Given the description of an element on the screen output the (x, y) to click on. 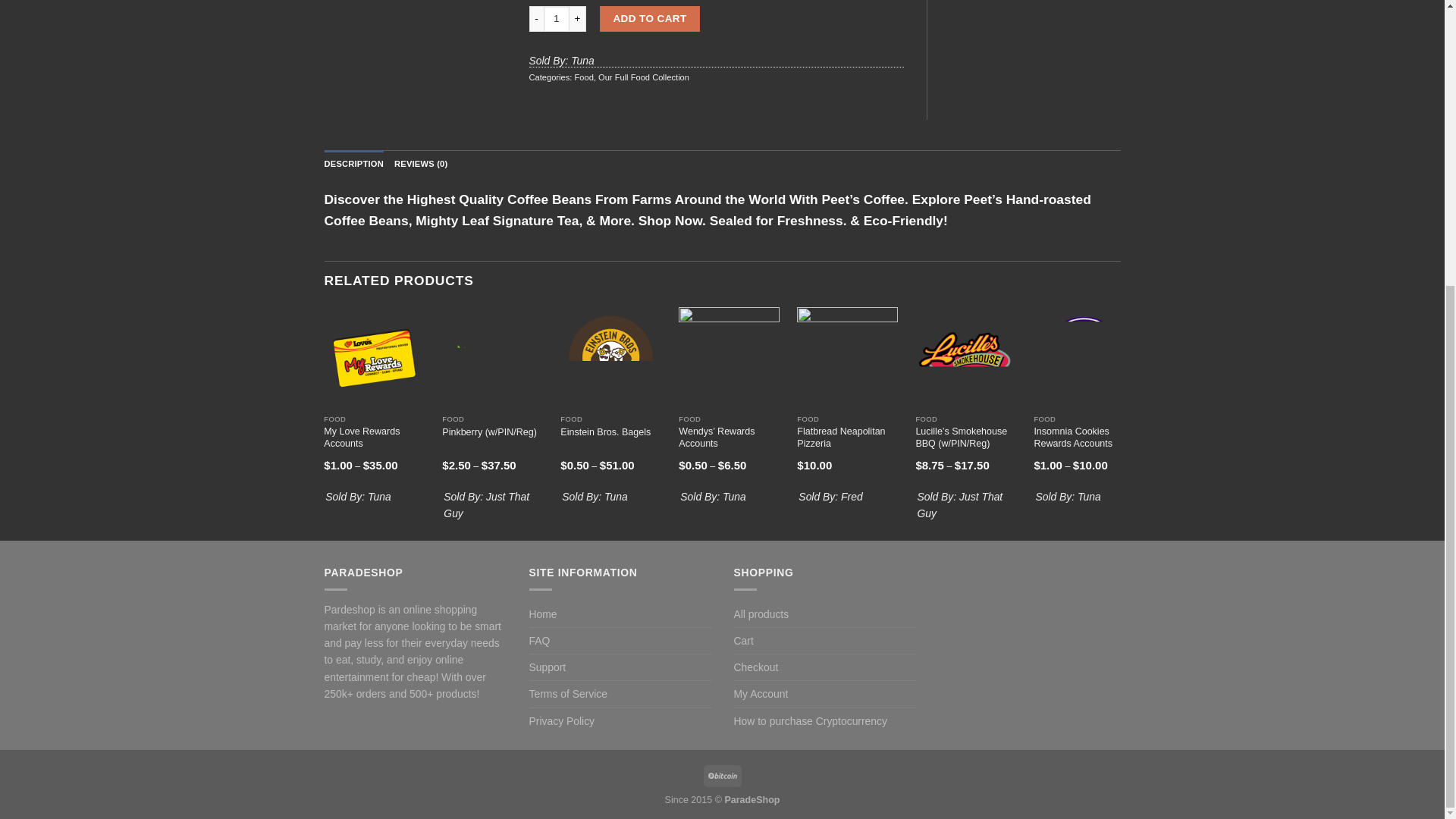
Fred (852, 496)
Tuna (615, 496)
Qty (556, 18)
Tuna (733, 496)
1 (556, 18)
Tuna (1088, 496)
Tuna (379, 496)
Just That Guy (486, 504)
Tuna (582, 60)
Just That Guy (960, 504)
